Given the description of an element on the screen output the (x, y) to click on. 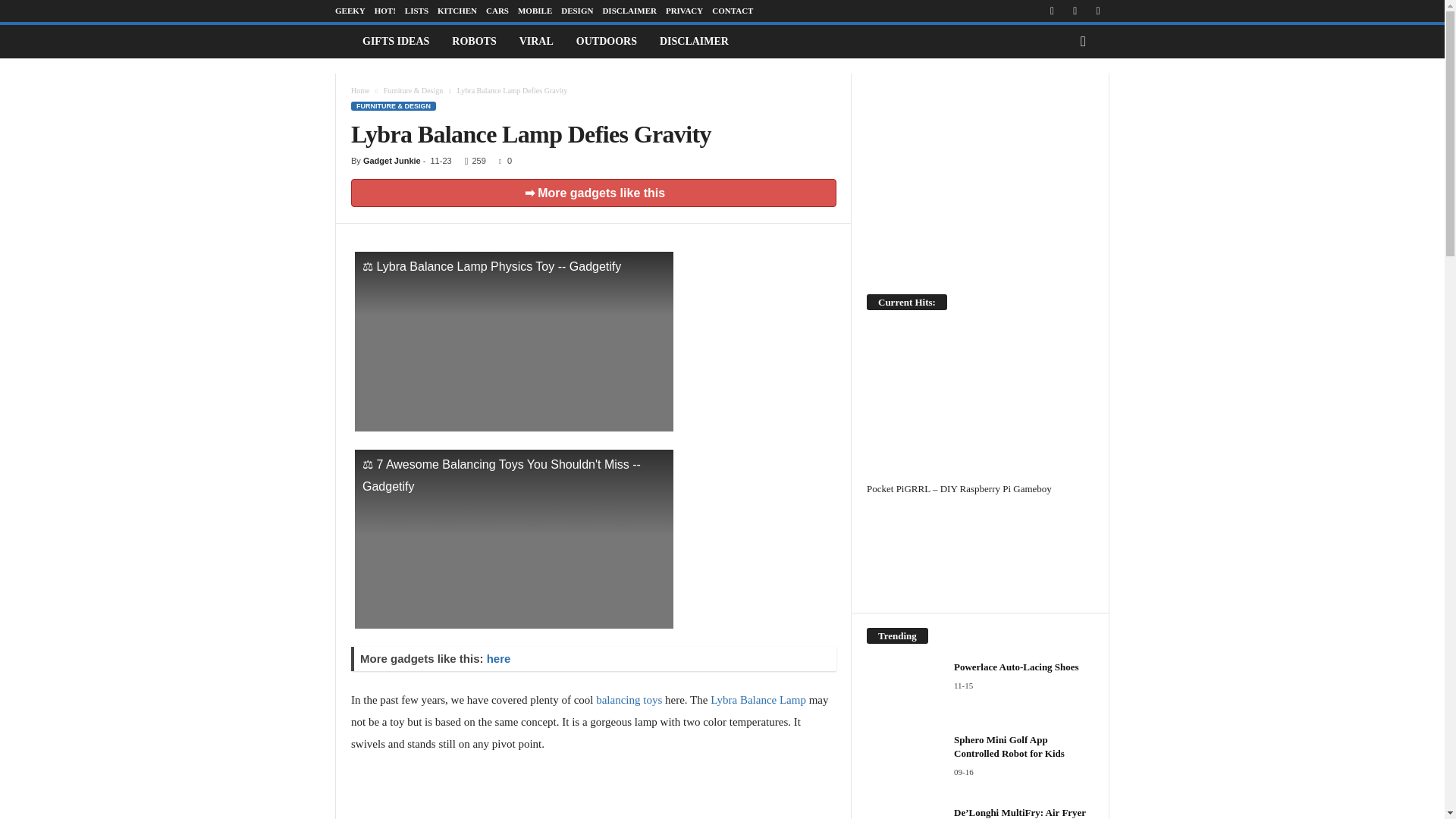
HOT! (385, 10)
GEEKY (349, 10)
LISTS (416, 10)
